Given the description of an element on the screen output the (x, y) to click on. 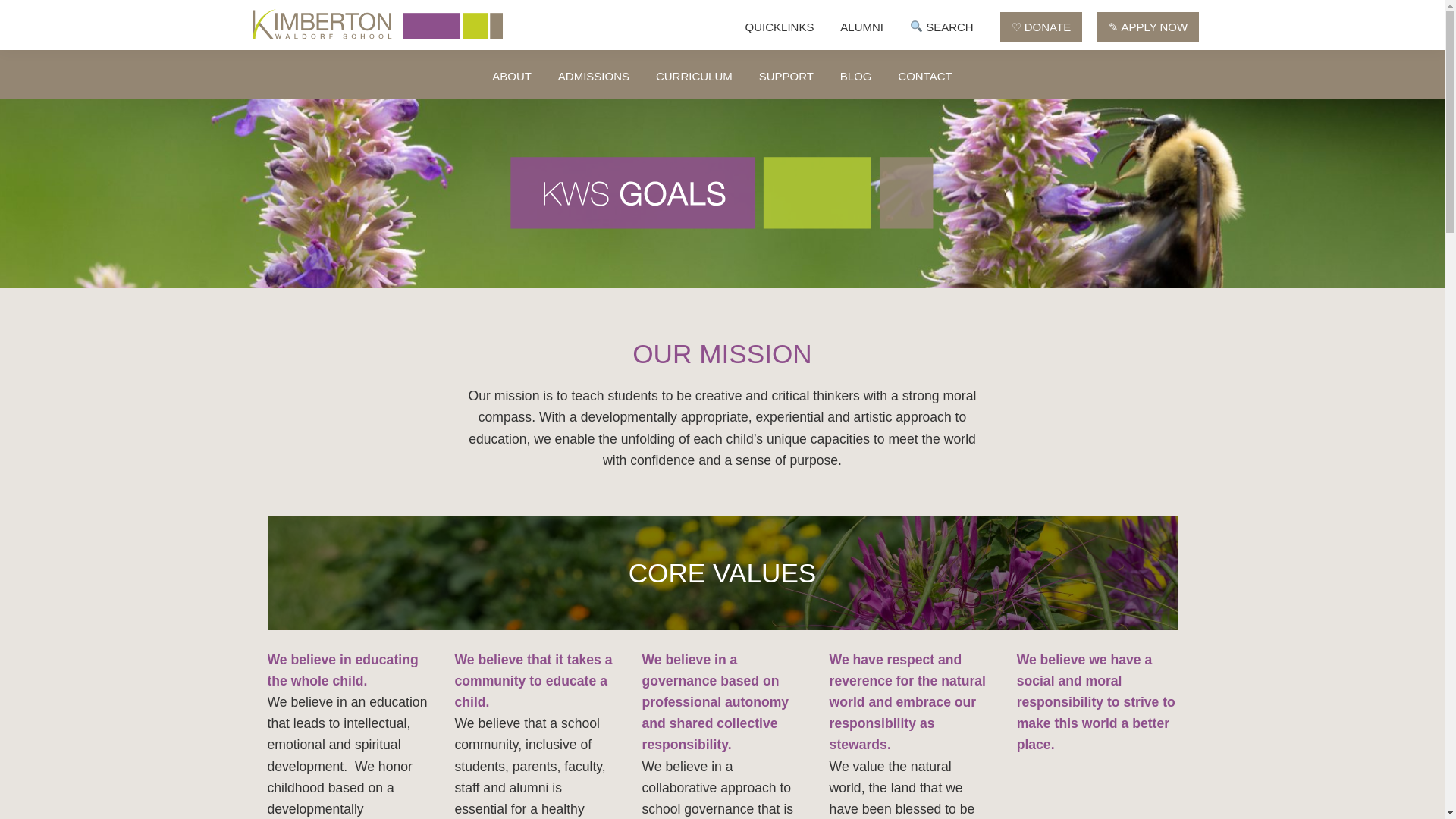
SEARCH (941, 26)
ADMISSIONS (593, 75)
QUICKLINKS (779, 26)
ABOUT (511, 75)
ALUMNI (861, 26)
